Given the description of an element on the screen output the (x, y) to click on. 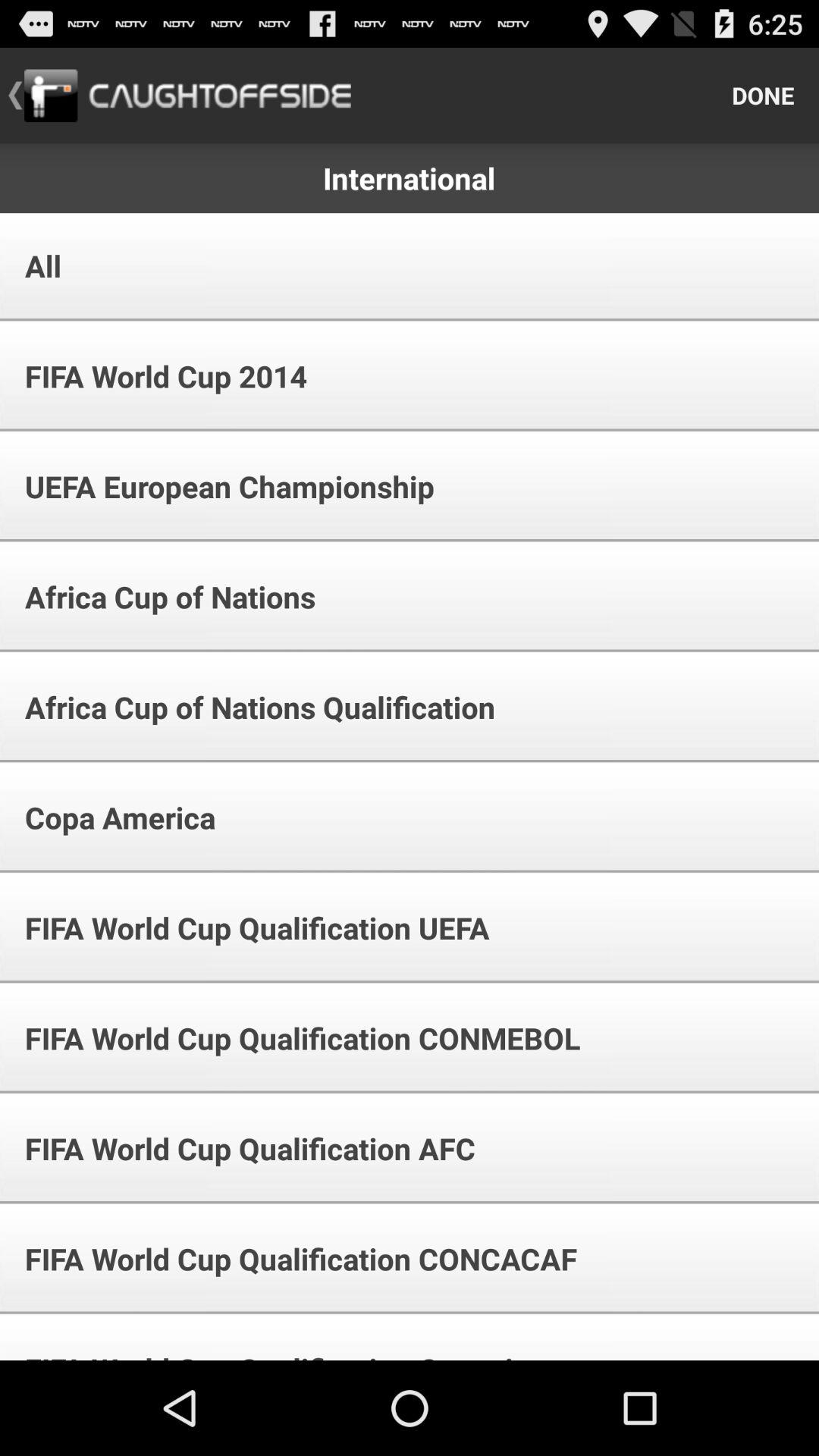
click the app above fifa world cup icon (33, 265)
